Given the description of an element on the screen output the (x, y) to click on. 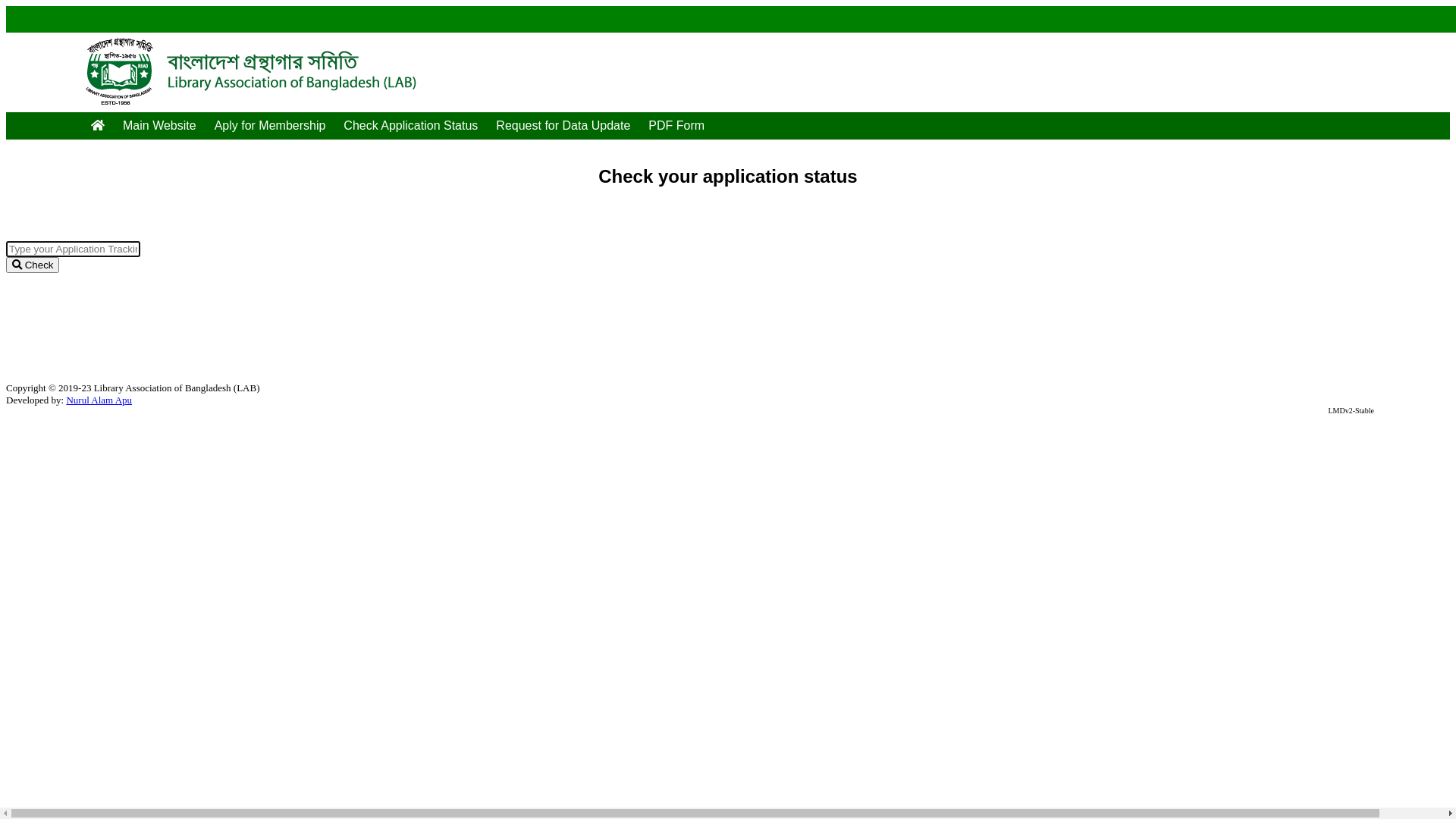
Check Element type: text (32, 265)
Main Website Element type: text (159, 125)
Aply for Membership Element type: text (270, 125)
Minimum 10 to maximum 14 characters required! Element type: hover (73, 249)
PDF Form Element type: text (676, 125)
Request for Data Update Element type: text (562, 125)
Nurul Alam Apu Element type: text (98, 399)
Check Application Status Element type: text (410, 125)
